Given the description of an element on the screen output the (x, y) to click on. 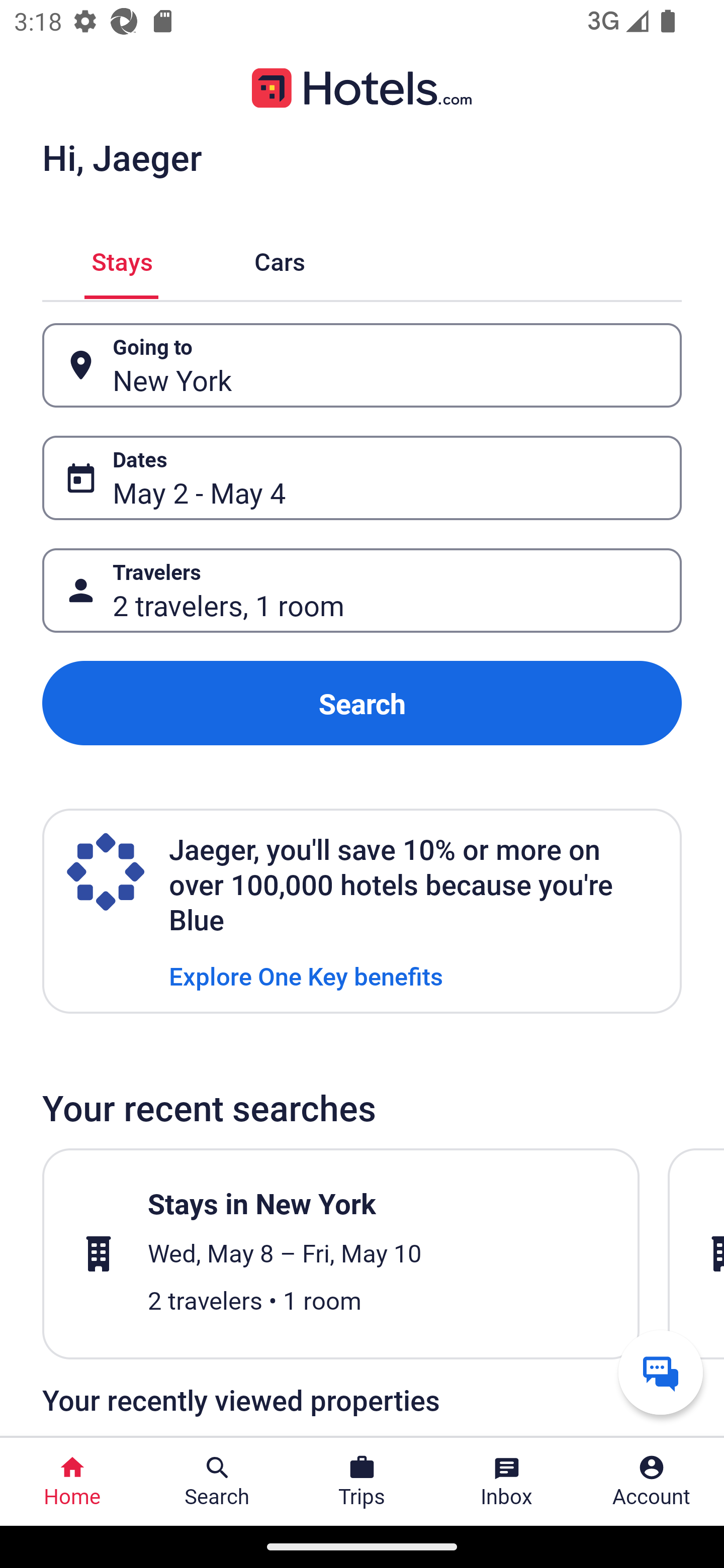
Hi, Jaeger (121, 156)
Cars (279, 259)
Going to Button New York (361, 365)
Dates Button May 2 - May 4 (361, 477)
Travelers Button 2 travelers, 1 room (361, 590)
Search (361, 702)
Get help from a virtual agent (660, 1371)
Search Search Button (216, 1481)
Trips Trips Button (361, 1481)
Inbox Inbox Button (506, 1481)
Account Profile. Button (651, 1481)
